Given the description of an element on the screen output the (x, y) to click on. 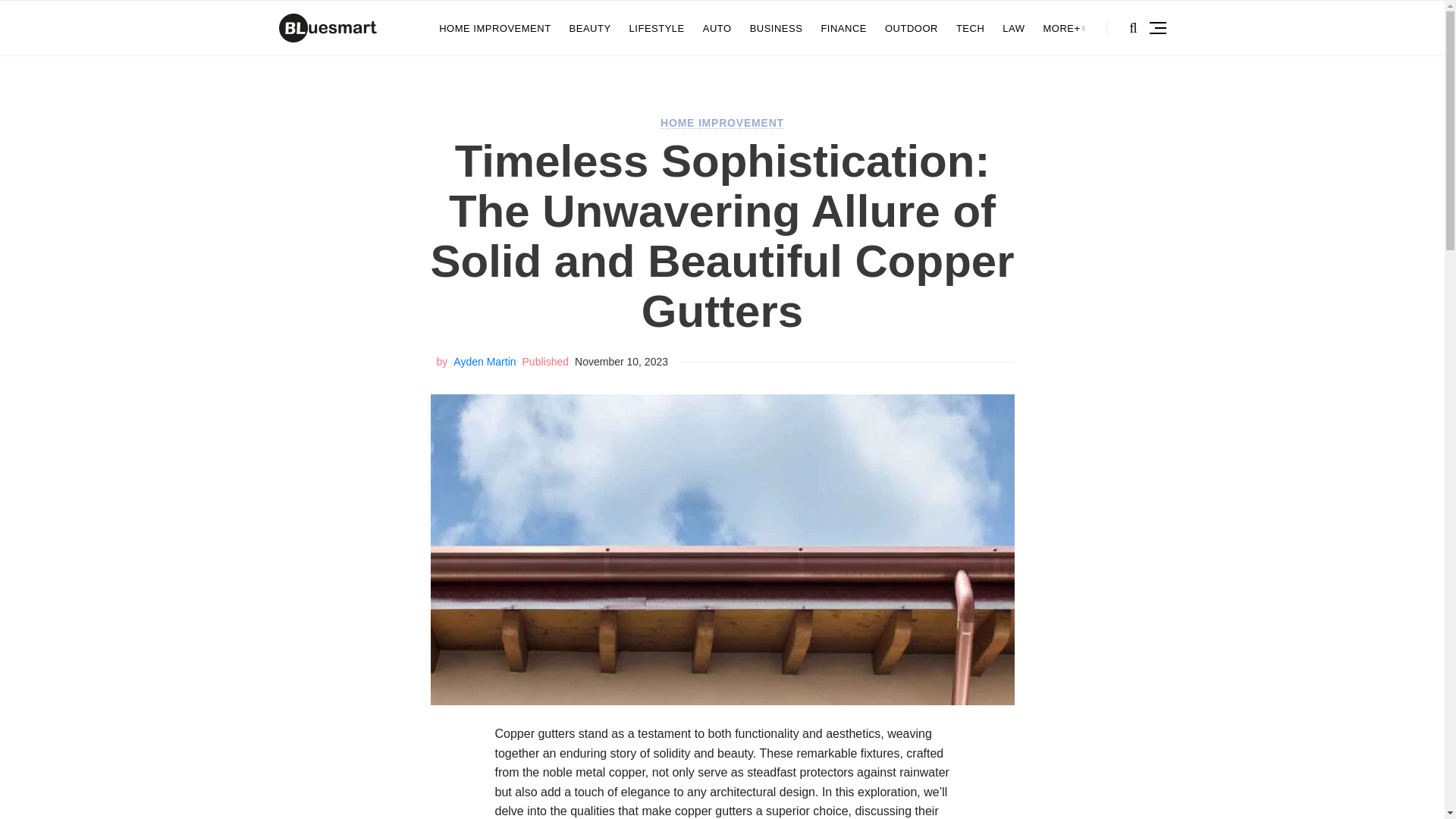
HOME IMPROVEMENT (722, 122)
Ayden Martin (483, 361)
BEAUTY (590, 27)
Posts by Ayden Martin (483, 361)
BUSINESS (776, 27)
LIFESTYLE (657, 27)
OUTDOOR (911, 27)
FINANCE (843, 27)
HOME IMPROVEMENT (494, 27)
